Given the description of an element on the screen output the (x, y) to click on. 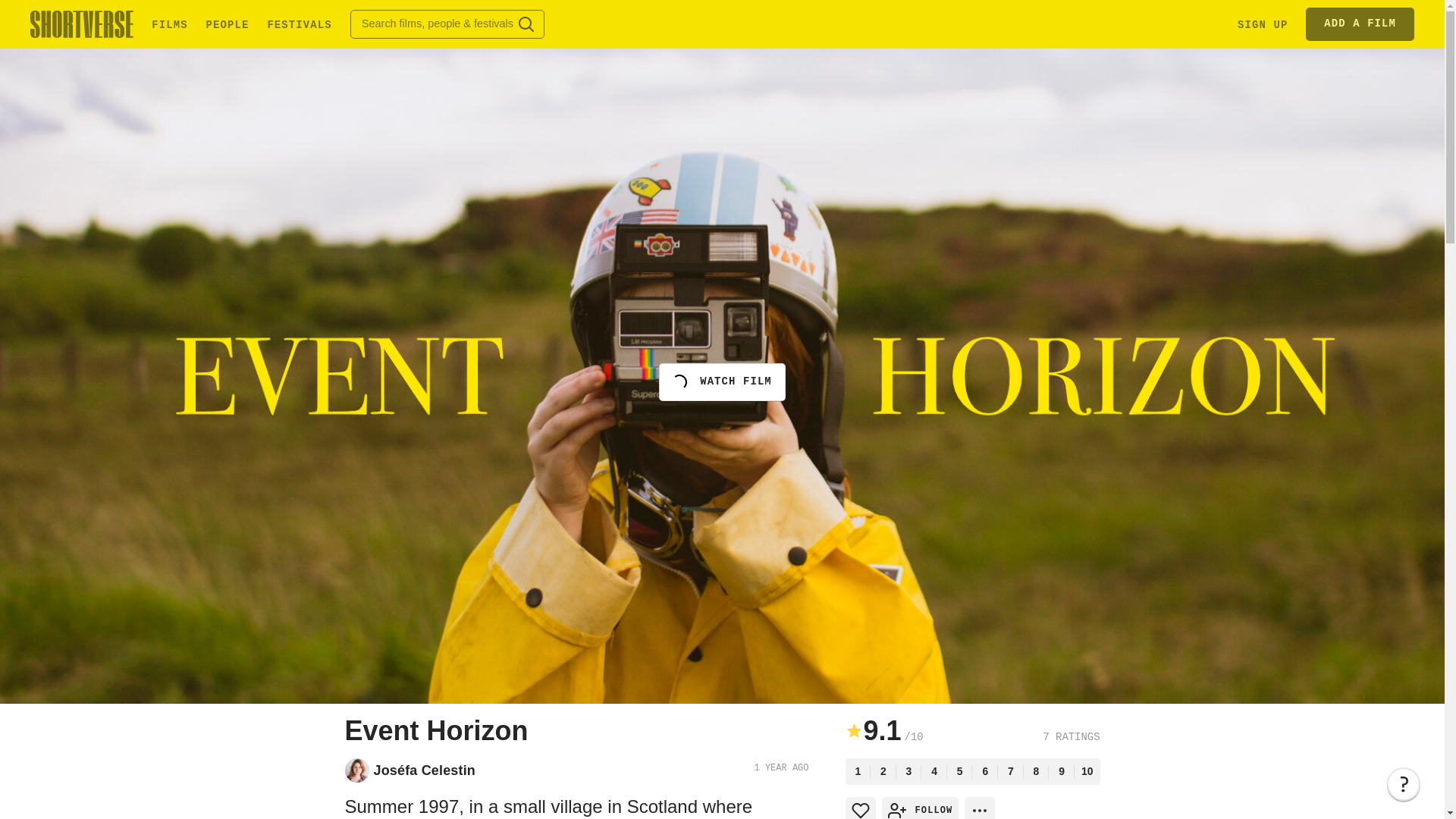
View Profile (423, 770)
WATCH FILM (722, 382)
View Profile (355, 770)
ADD A FILM (1359, 23)
FILMS (169, 23)
SIGN UP (1262, 23)
PEOPLE (227, 23)
FESTIVALS (298, 23)
2023-03-29T11:02:59.000Z (781, 767)
